Given the description of an element on the screen output the (x, y) to click on. 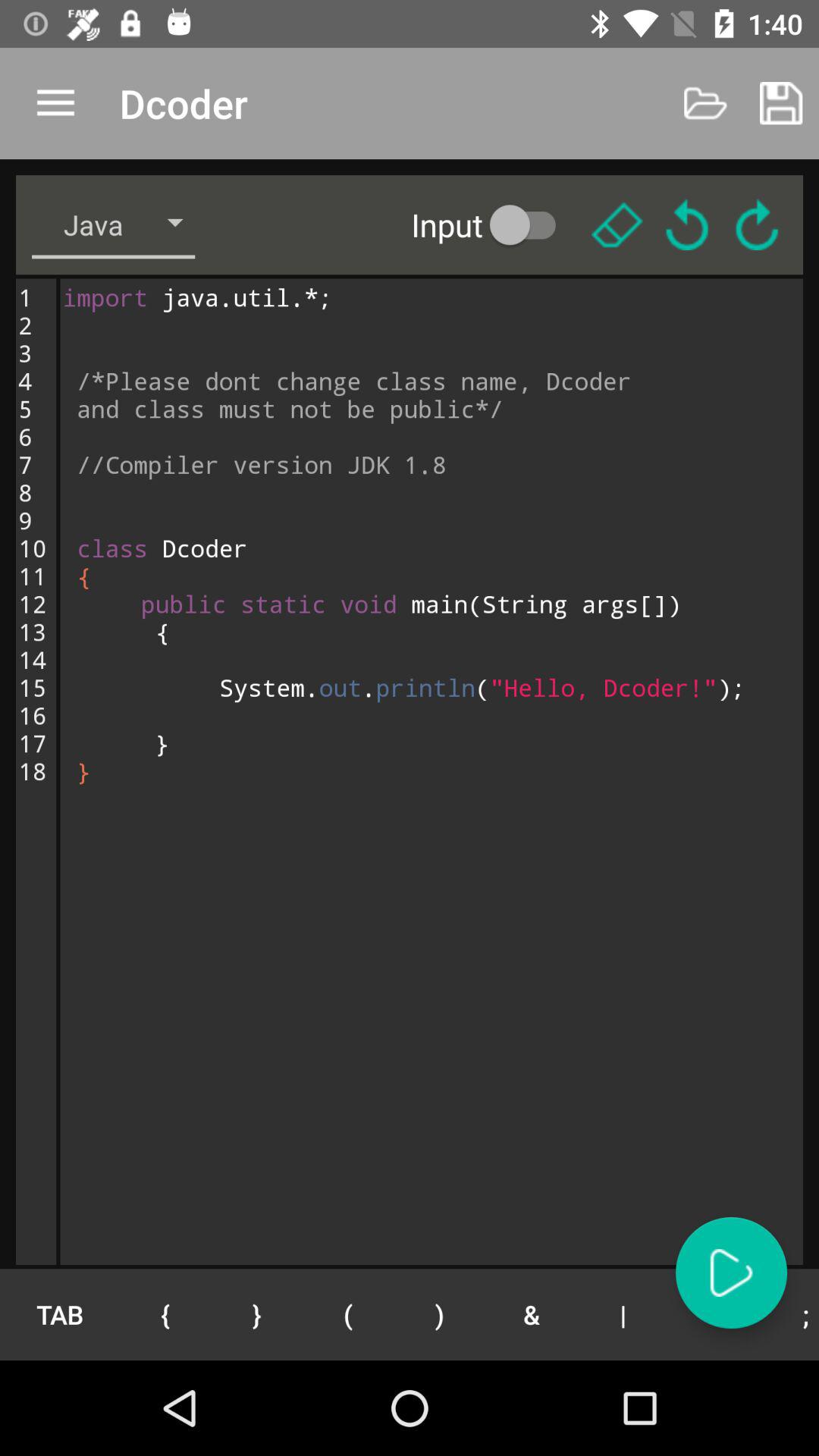
press icon below import java util icon (348, 1314)
